Given the description of an element on the screen output the (x, y) to click on. 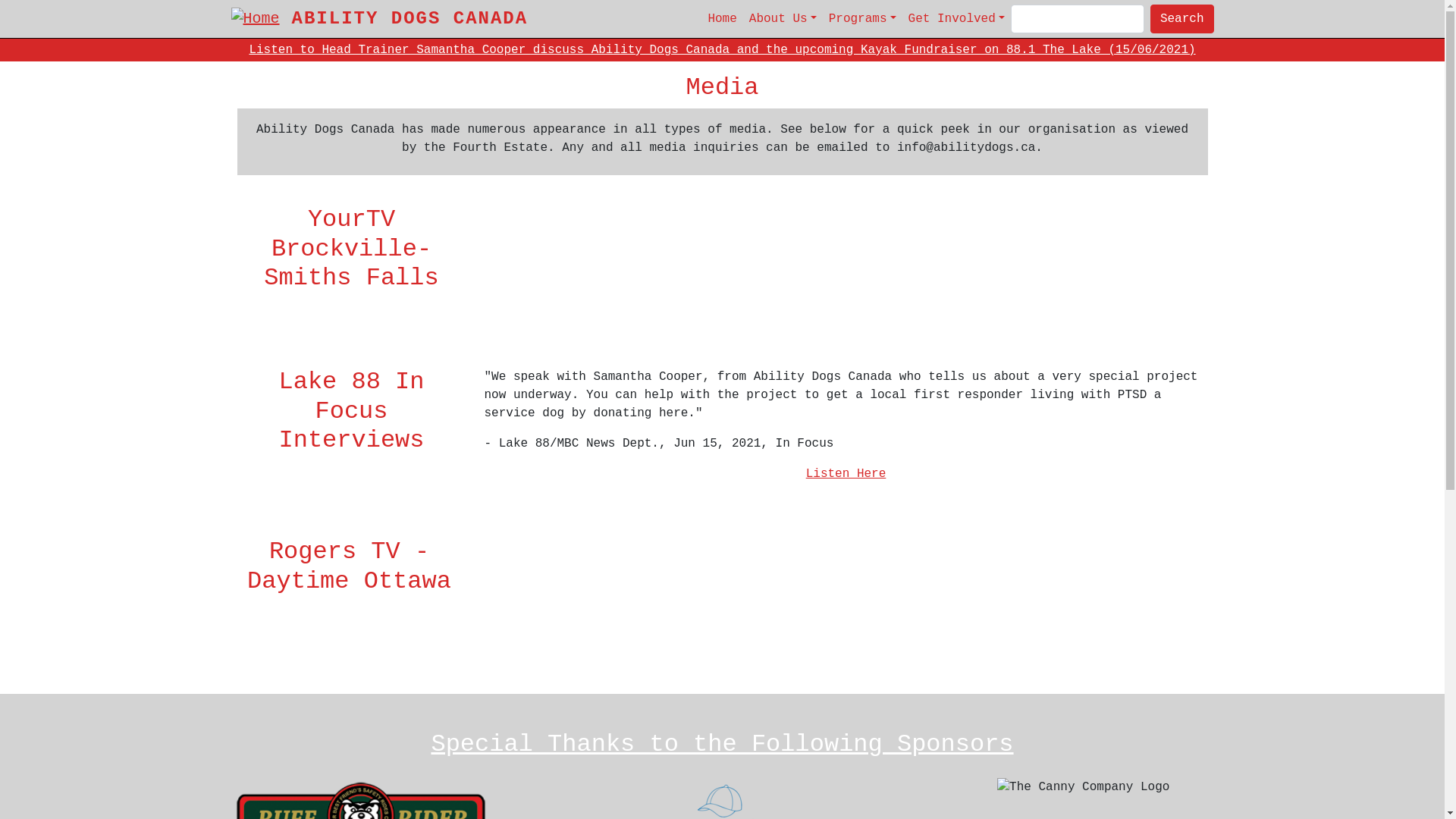
Listen Here Element type: text (846, 473)
Search Element type: text (1182, 18)
Enter the terms you wish to search for. Element type: hover (1077, 18)
About Us Element type: text (782, 18)
Get Involved Element type: text (956, 18)
Home Element type: hover (260, 18)
Programs Element type: text (862, 18)
ABILITY DOGS CANADA Element type: text (409, 18)
Home Element type: text (721, 18)
